Given the description of an element on the screen output the (x, y) to click on. 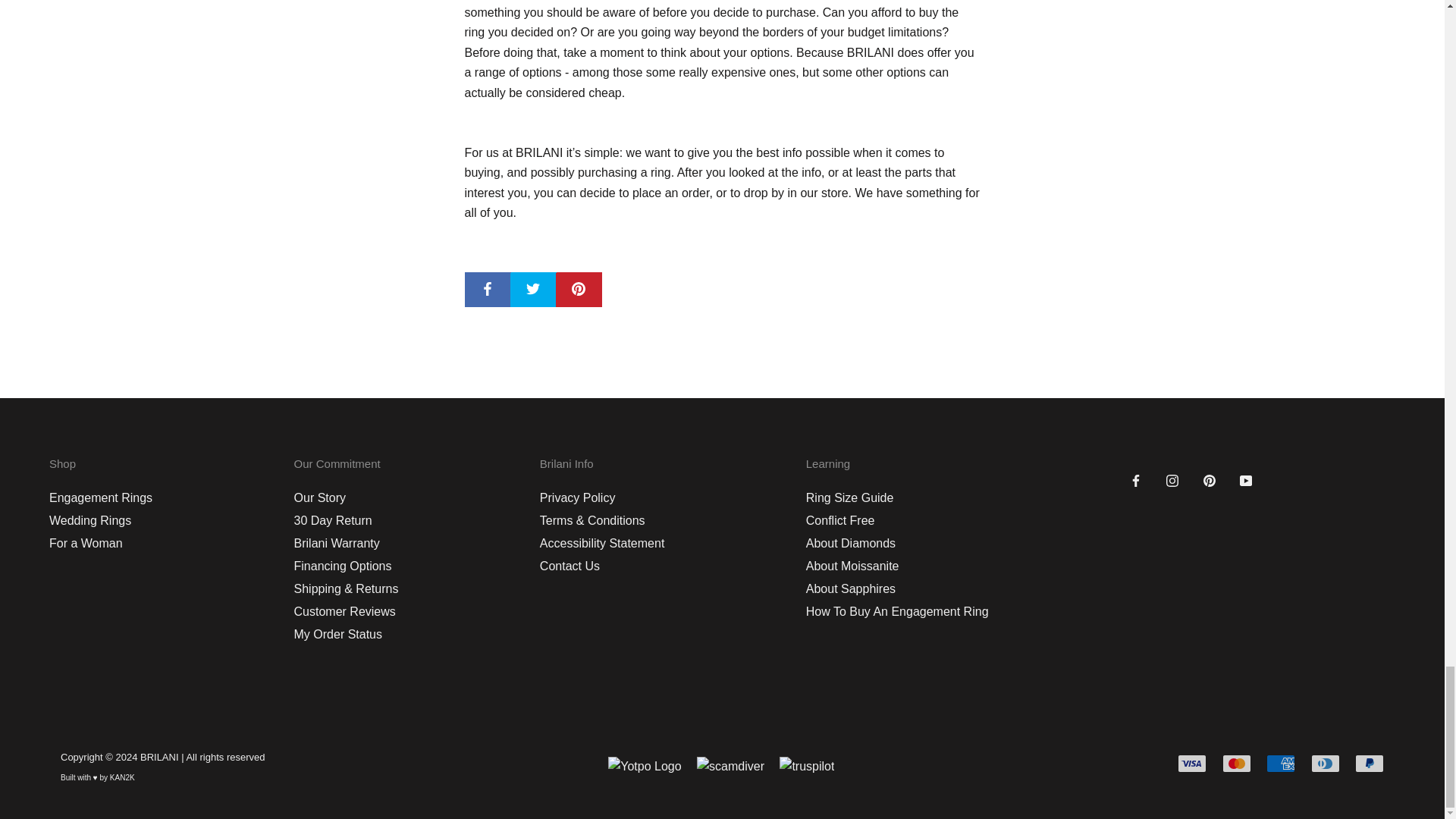
Visa (1192, 763)
PayPal (1369, 763)
Mastercard (1236, 763)
American Express (1280, 763)
Diners Club (1325, 763)
